Given the description of an element on the screen output the (x, y) to click on. 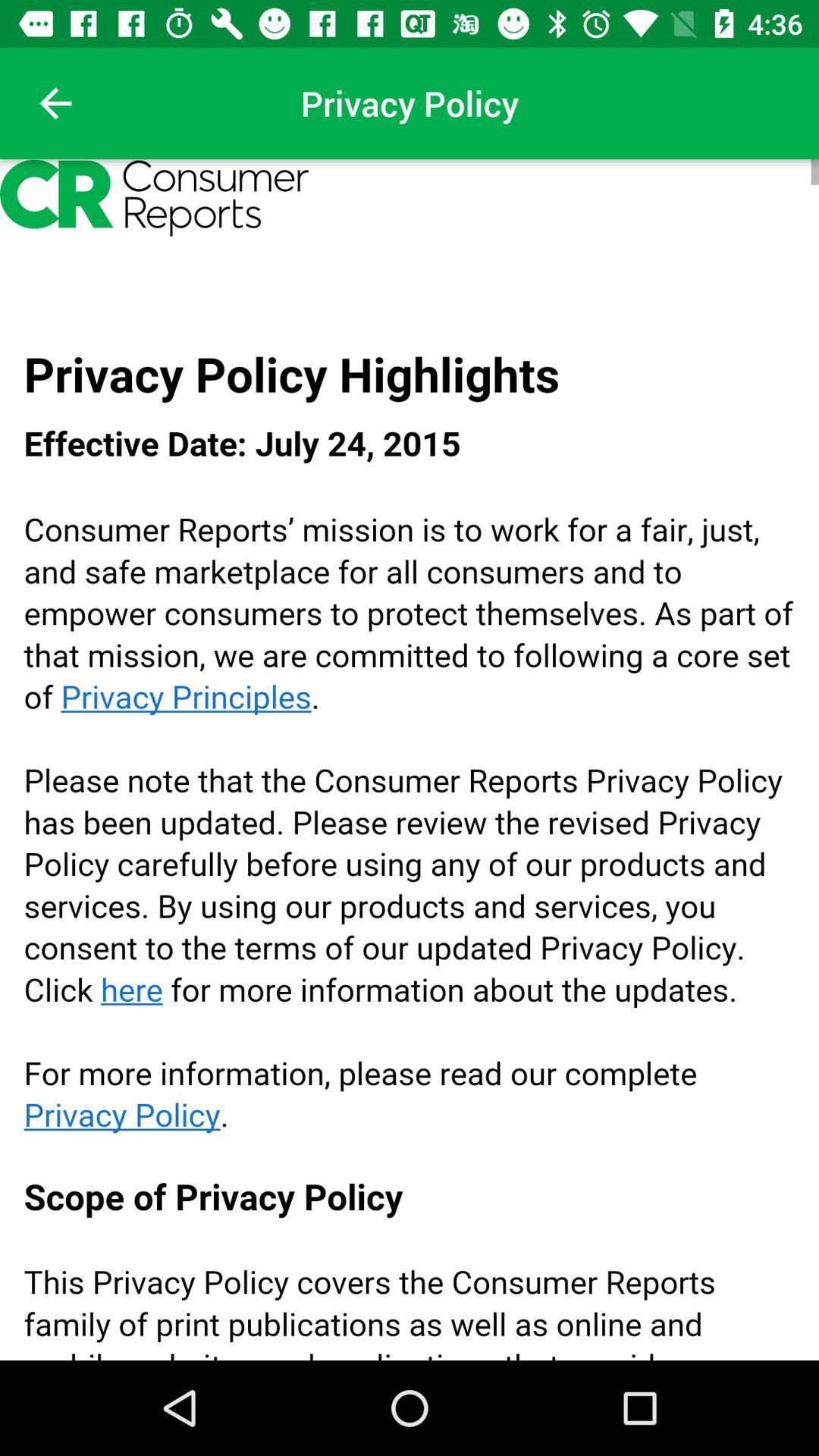
go to previous (55, 103)
